Given the description of an element on the screen output the (x, y) to click on. 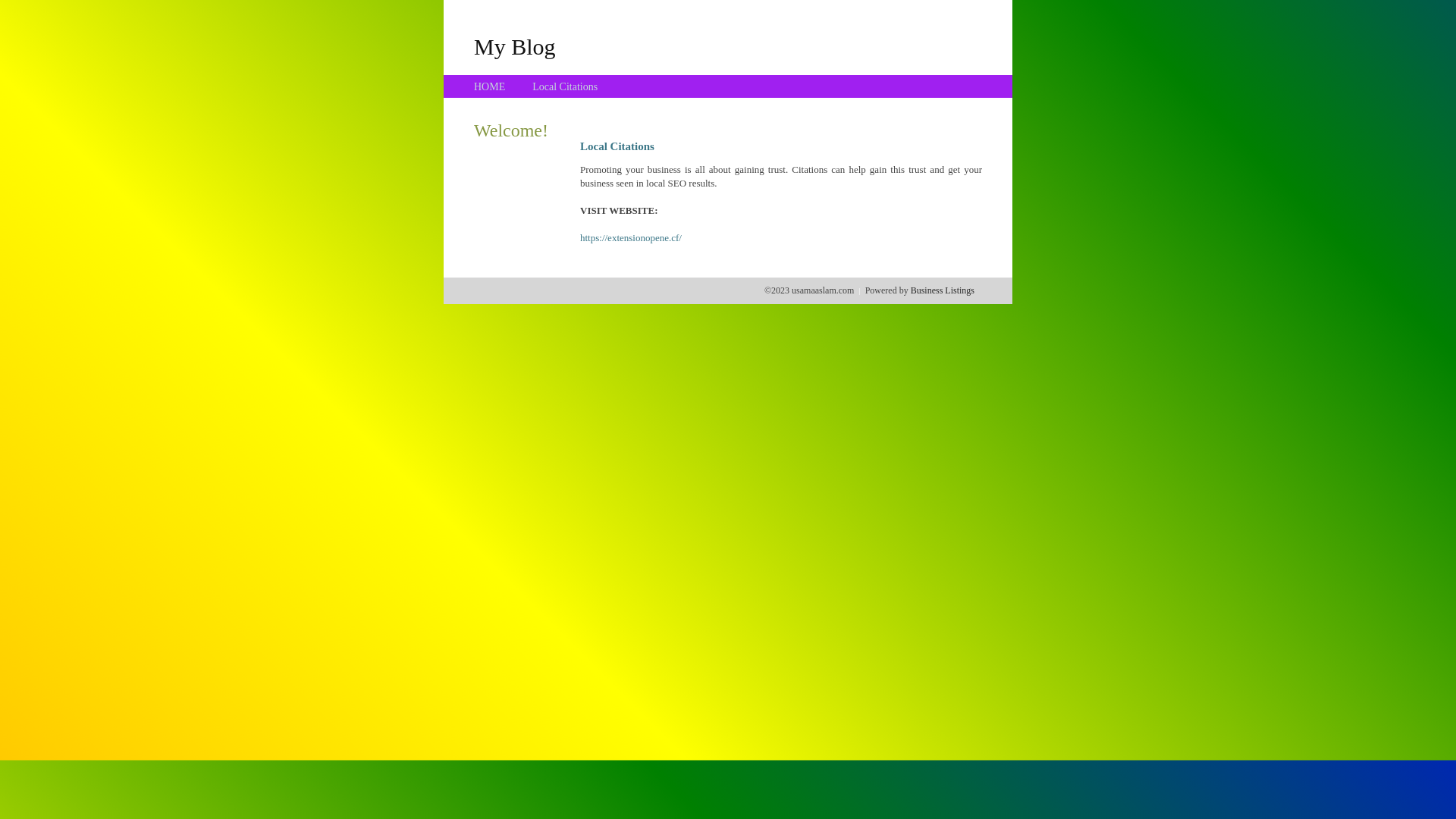
https://extensionopene.cf/ Element type: text (630, 237)
My Blog Element type: text (514, 46)
Local Citations Element type: text (564, 86)
HOME Element type: text (489, 86)
Business Listings Element type: text (942, 290)
